Given the description of an element on the screen output the (x, y) to click on. 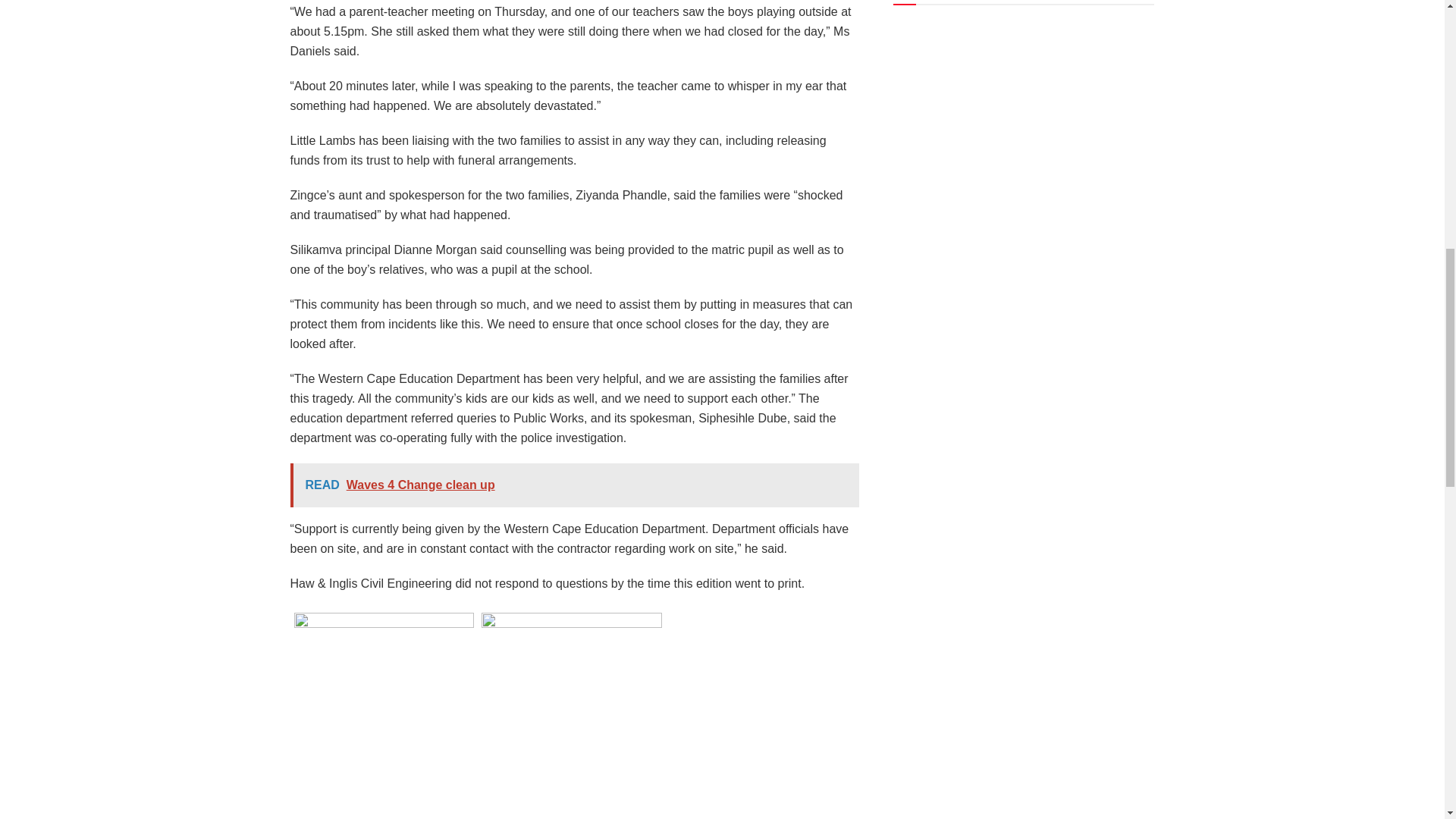
READ  Waves 4 Change clean up (574, 484)
